Given the description of an element on the screen output the (x, y) to click on. 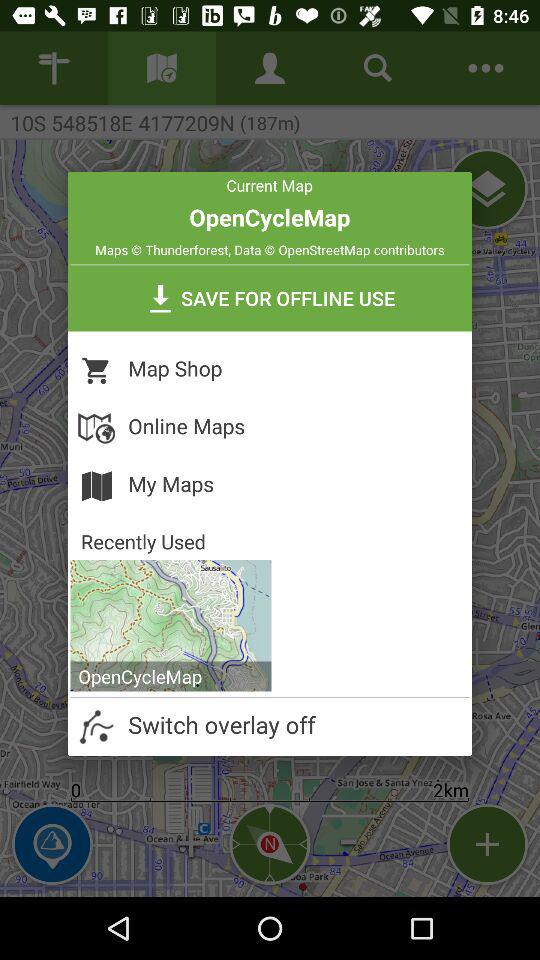
swipe until save for offline (269, 298)
